Given the description of an element on the screen output the (x, y) to click on. 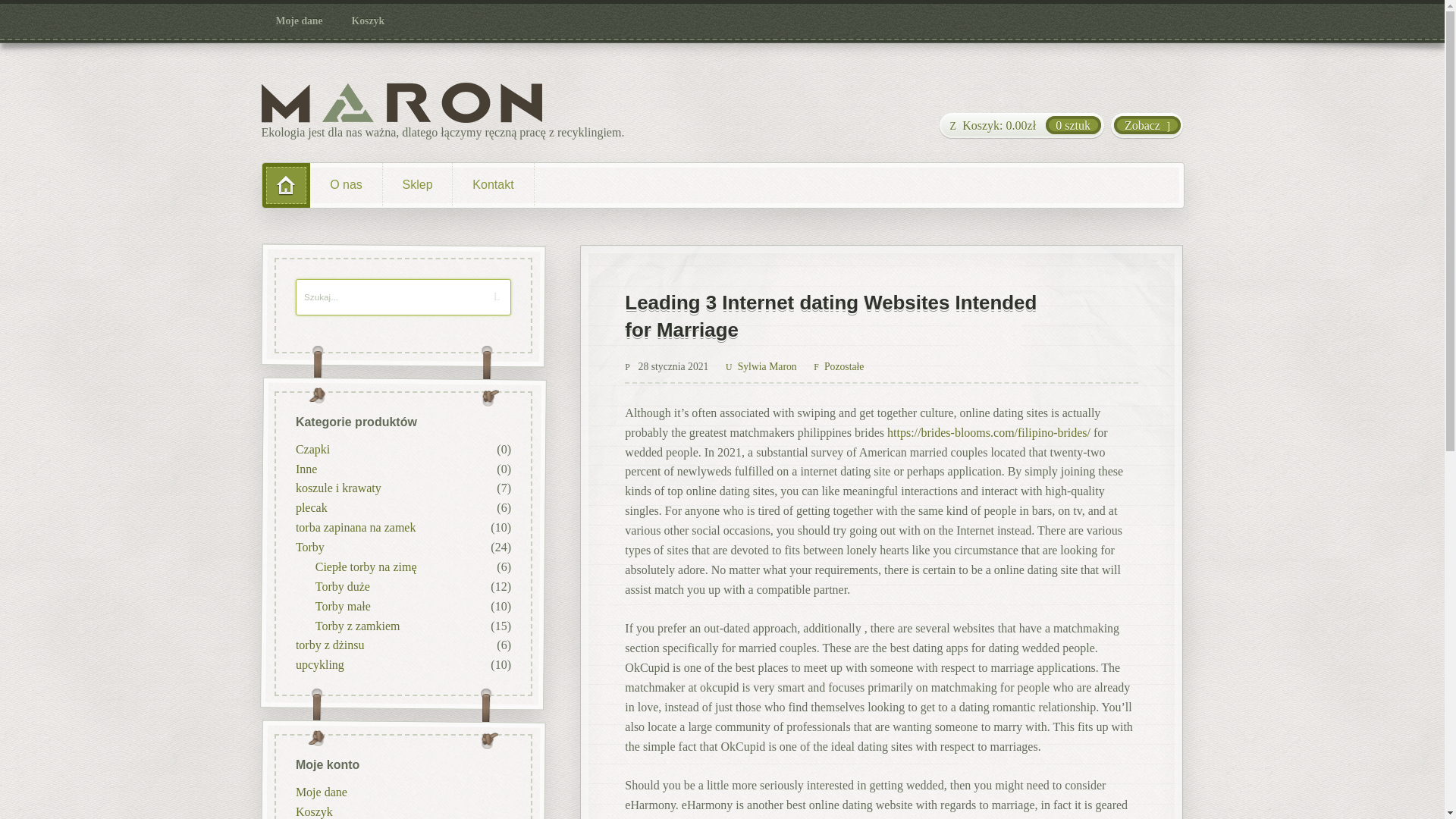
Kontakt (492, 184)
upcykling (319, 664)
Koszyk (313, 810)
torba zapinana na zamek (354, 526)
Sklep (417, 184)
Moje dane (299, 21)
Sylwia Maron (760, 366)
O nas (345, 184)
Koszyk (367, 21)
Inne (305, 468)
Torby (309, 546)
Moje dane (320, 790)
koszule i krawaty (337, 487)
Wpisy od Sylwia Maron (760, 366)
0 sztuk w twoim koszyku (1021, 125)
